Given the description of an element on the screen output the (x, y) to click on. 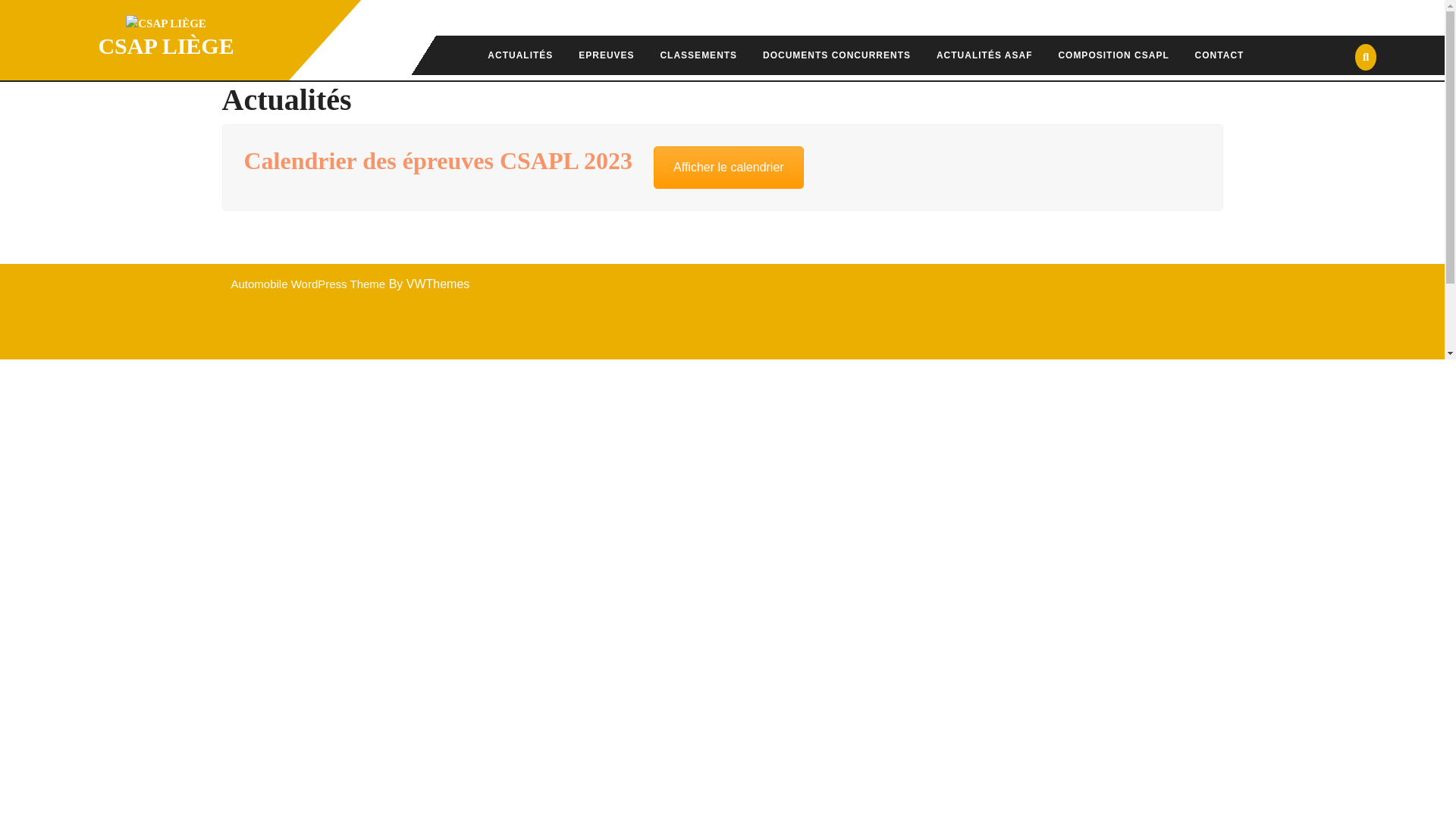
Facebook Element type: hover (1269, 418)
Afficher le calendrier Element type: text (728, 167)
CONTACT Element type: text (1219, 55)
DOCUMENTS CONCURRENTS Element type: text (836, 55)
Automobile WordPress Theme Element type: text (307, 283)
EPREUVES Element type: text (606, 55)
COMPOSITION CSAPL Element type: text (1112, 55)
CLASSEMENTS Element type: text (698, 55)
